Given the description of an element on the screen output the (x, y) to click on. 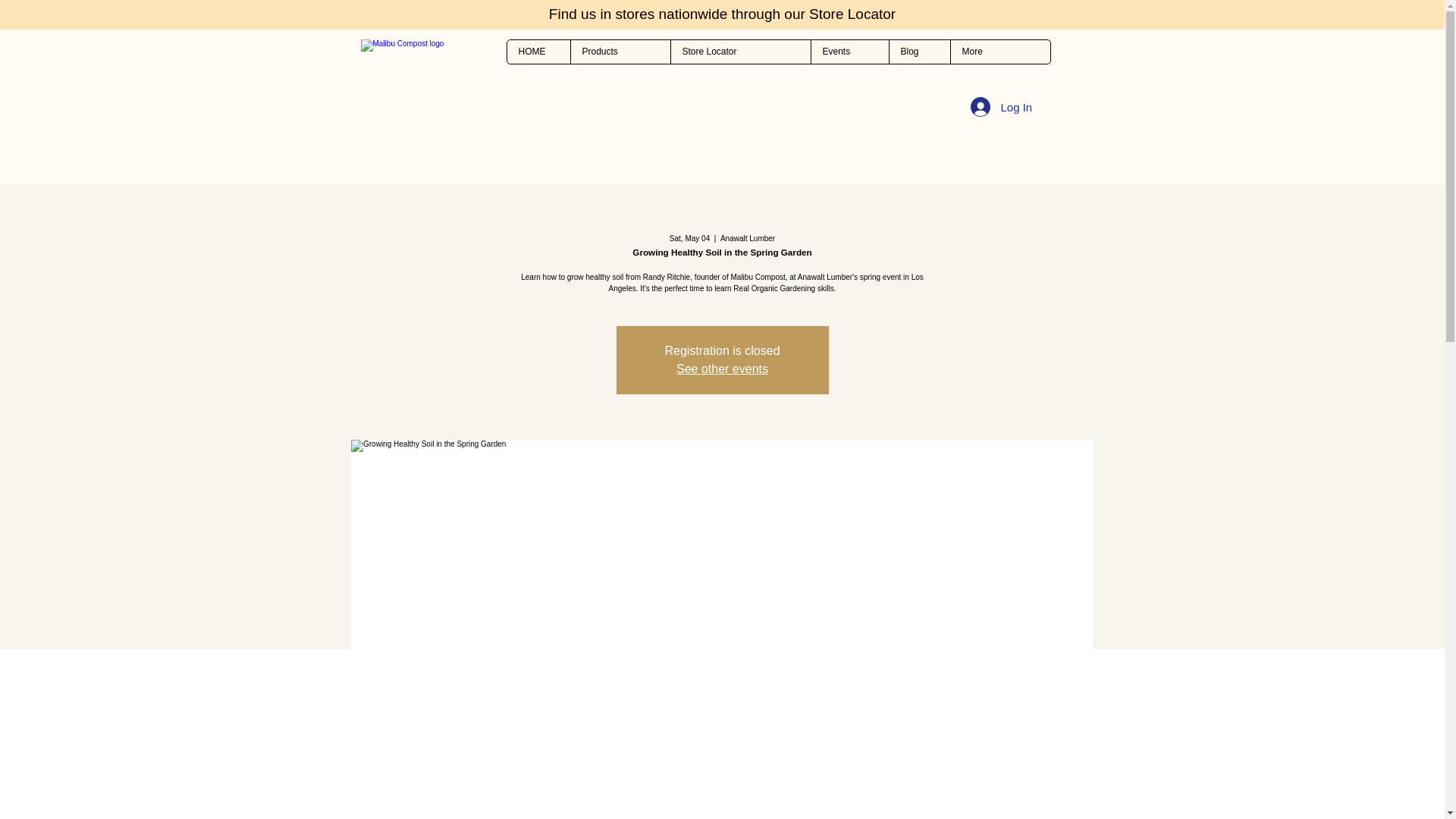
Log In (1001, 106)
Store Locator (739, 51)
Blog (919, 51)
Products (619, 51)
HOME (537, 51)
See other events (722, 368)
Events (848, 51)
